Given the description of an element on the screen output the (x, y) to click on. 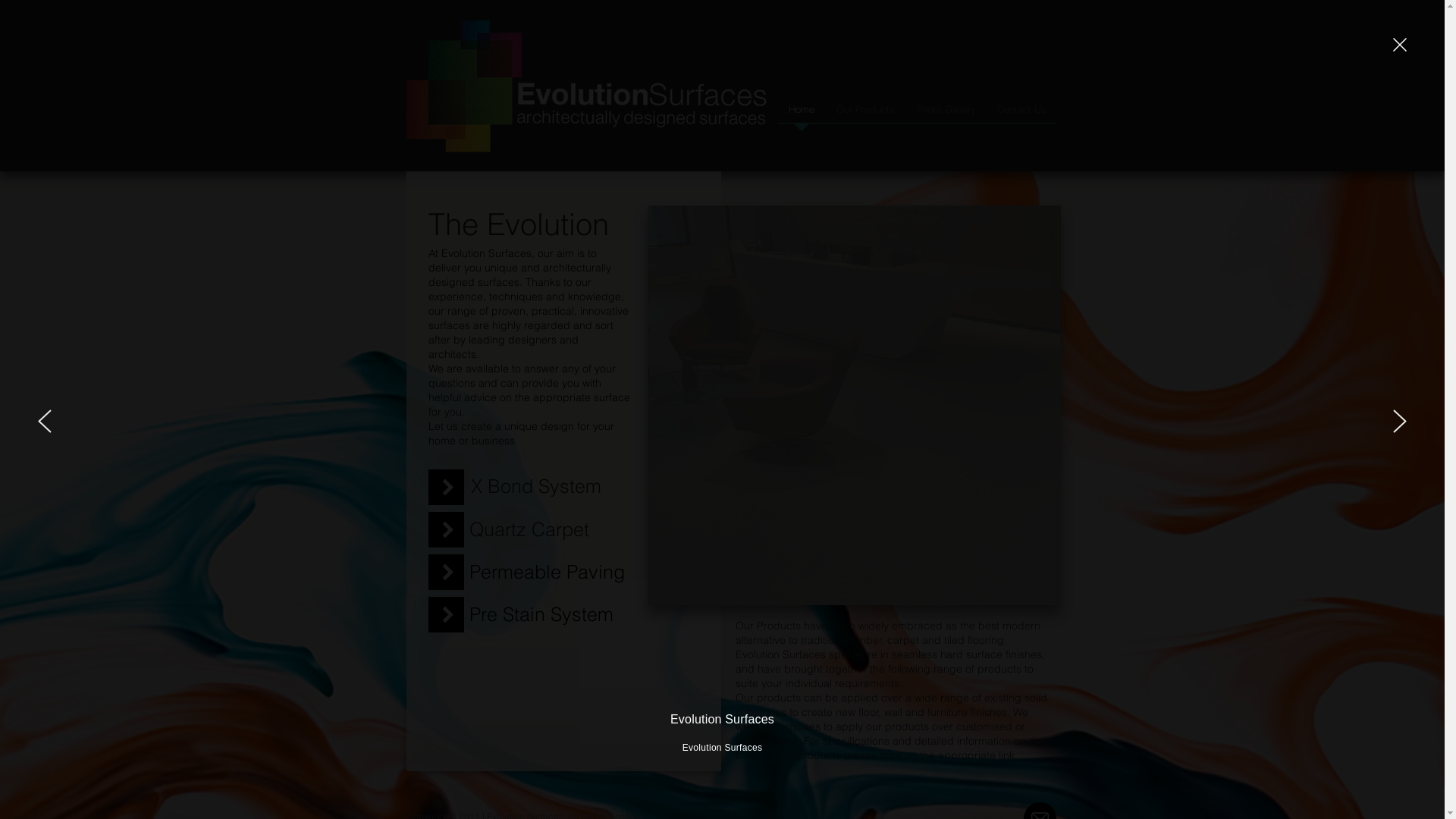
Contact Us Element type: text (1020, 113)
Home Element type: text (801, 113)
Photo Gallery Element type: text (945, 113)
Evolution-Surfaces-Logo-V2.png Element type: hover (584, 84)
Our Products Element type: text (865, 113)
